Given the description of an element on the screen output the (x, y) to click on. 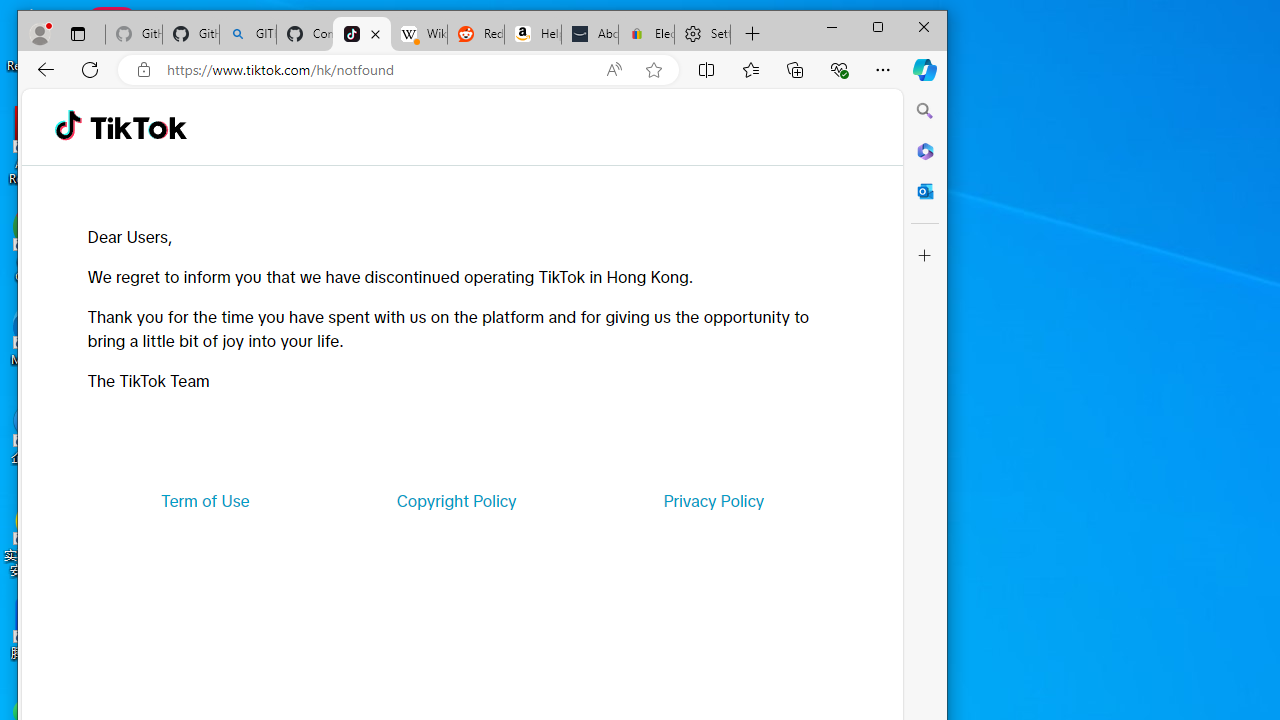
GITHUB - Search (248, 34)
Maximize (878, 26)
Electronics, Cars, Fashion, Collectibles & More | eBay (646, 34)
Close Outlook pane (925, 190)
About Amazon (589, 34)
